Given the description of an element on the screen output the (x, y) to click on. 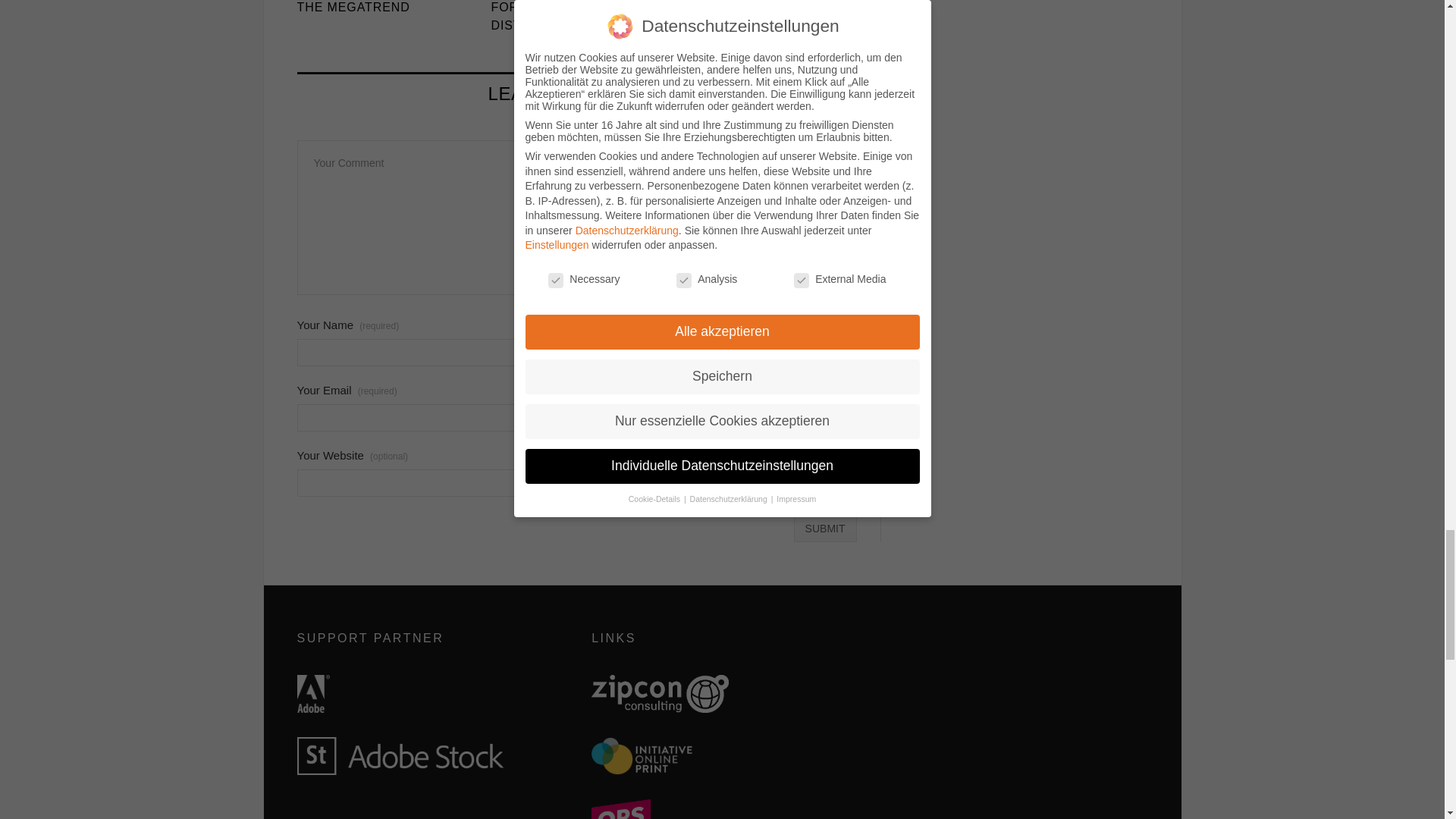
Submit (825, 528)
Submit (825, 528)
